Given the description of an element on the screen output the (x, y) to click on. 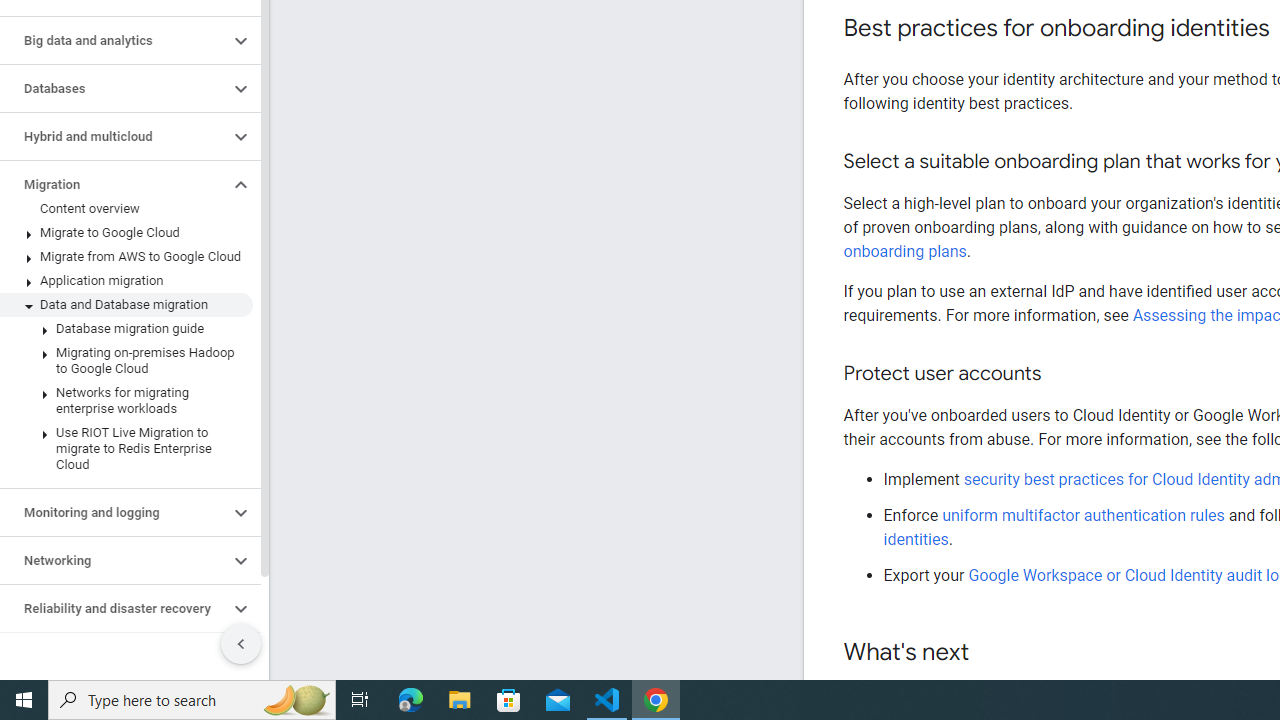
Use RIOT Live Migration to migrate to Redis Enterprise Cloud (126, 448)
Hybrid and multicloud (114, 137)
Reliability and disaster recovery (114, 608)
Content overview (126, 209)
Monitoring and logging (114, 512)
Migrate from AWS to Google Cloud (126, 256)
